Given the description of an element on the screen output the (x, y) to click on. 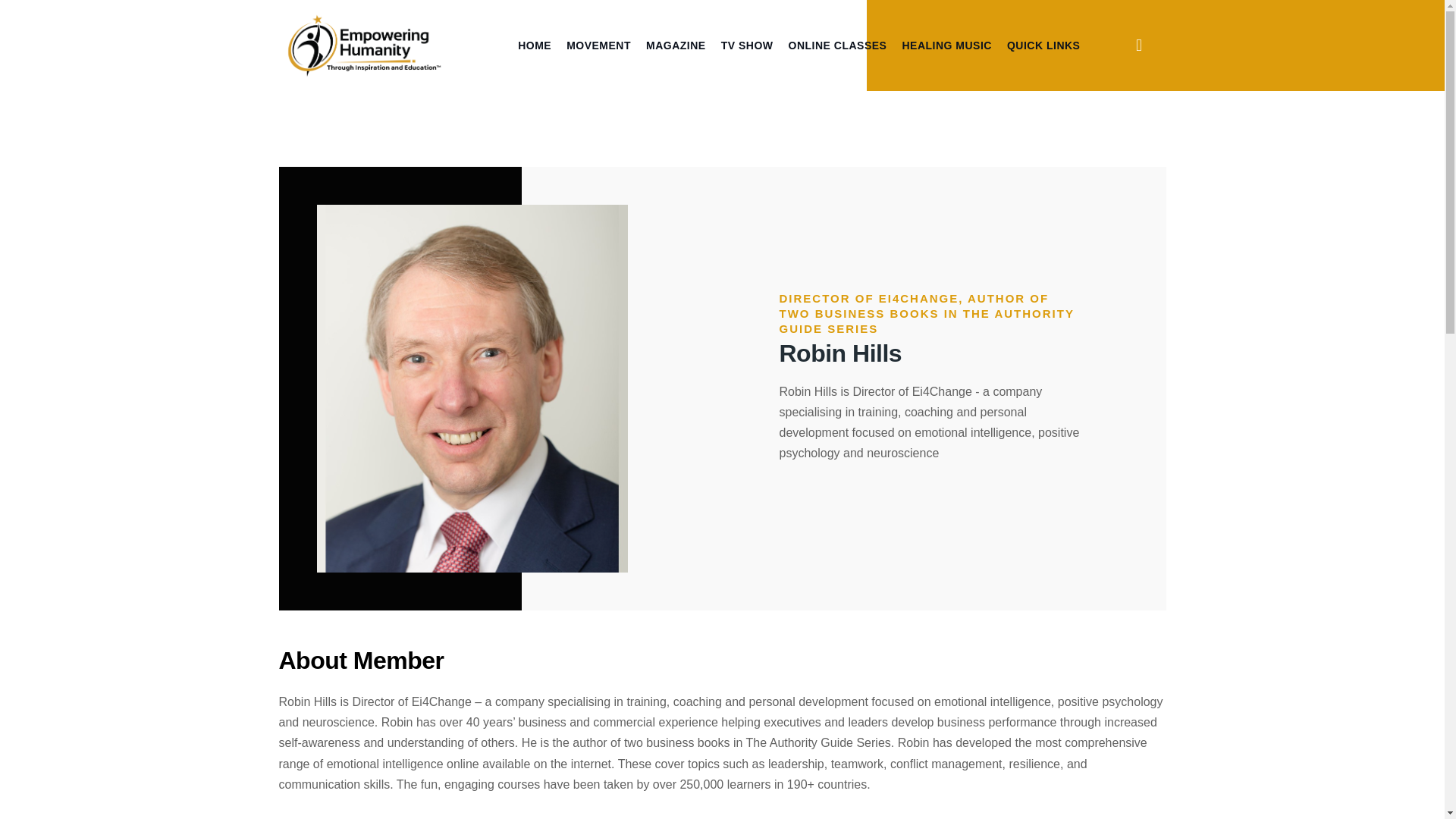
Empowering Humanity TV (364, 45)
HEALING MUSIC (946, 45)
ONLINE CLASSES (837, 45)
